Given the description of an element on the screen output the (x, y) to click on. 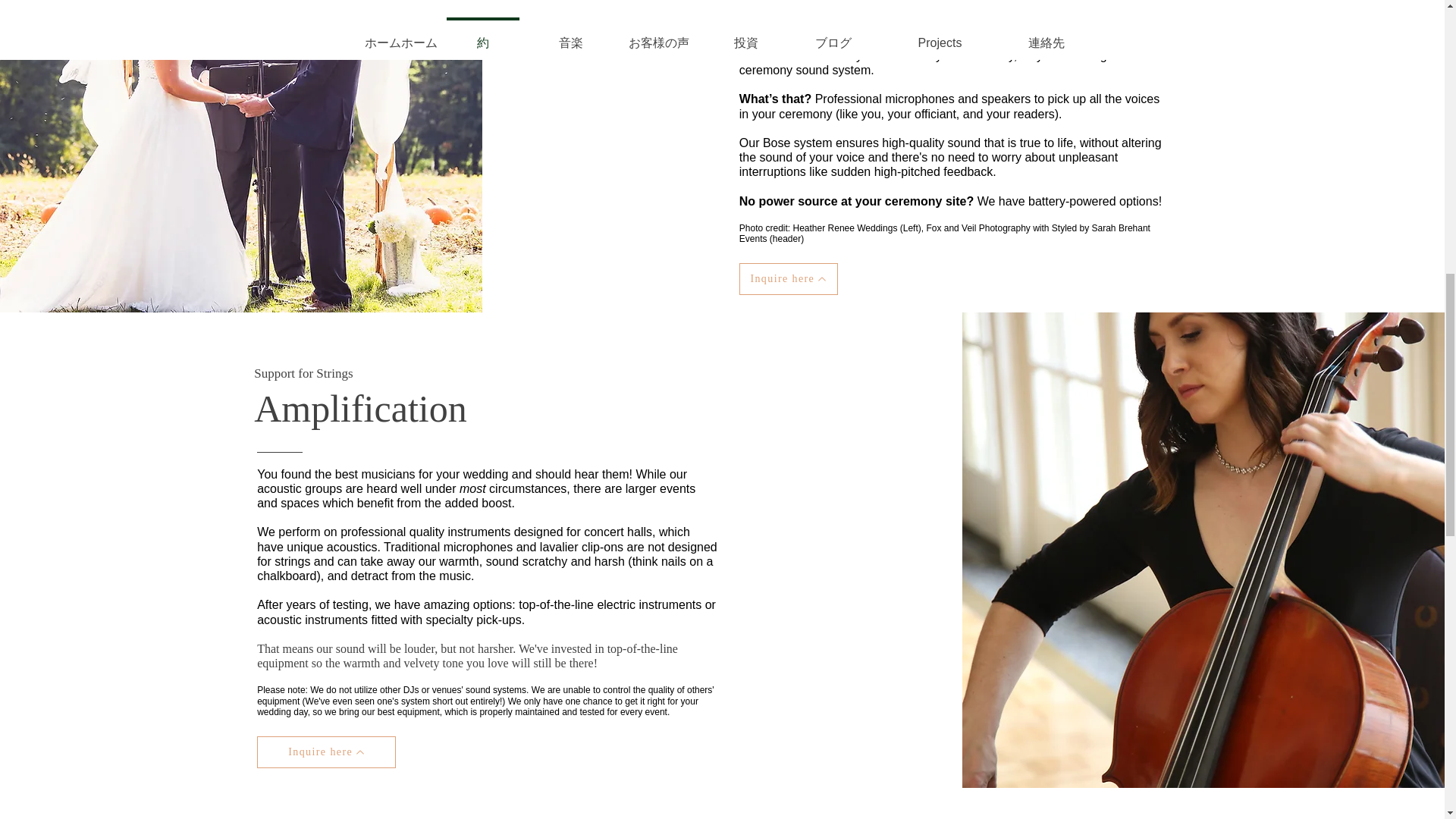
Inquire here (788, 278)
